Given the description of an element on the screen output the (x, y) to click on. 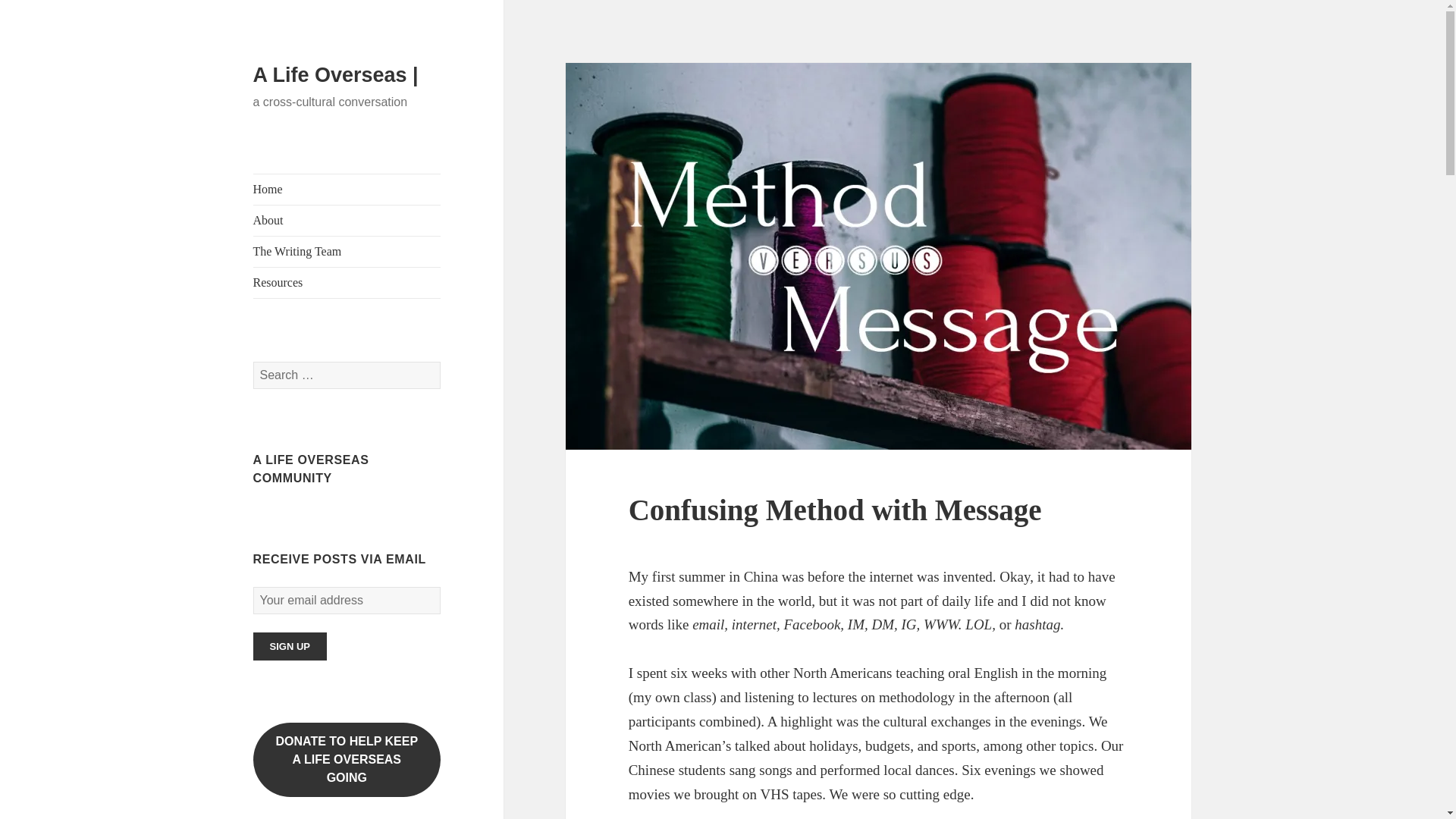
Sign up (289, 646)
Home (347, 189)
Sign up (289, 646)
Resources (347, 282)
The Writing Team (347, 251)
About (347, 759)
